Given the description of an element on the screen output the (x, y) to click on. 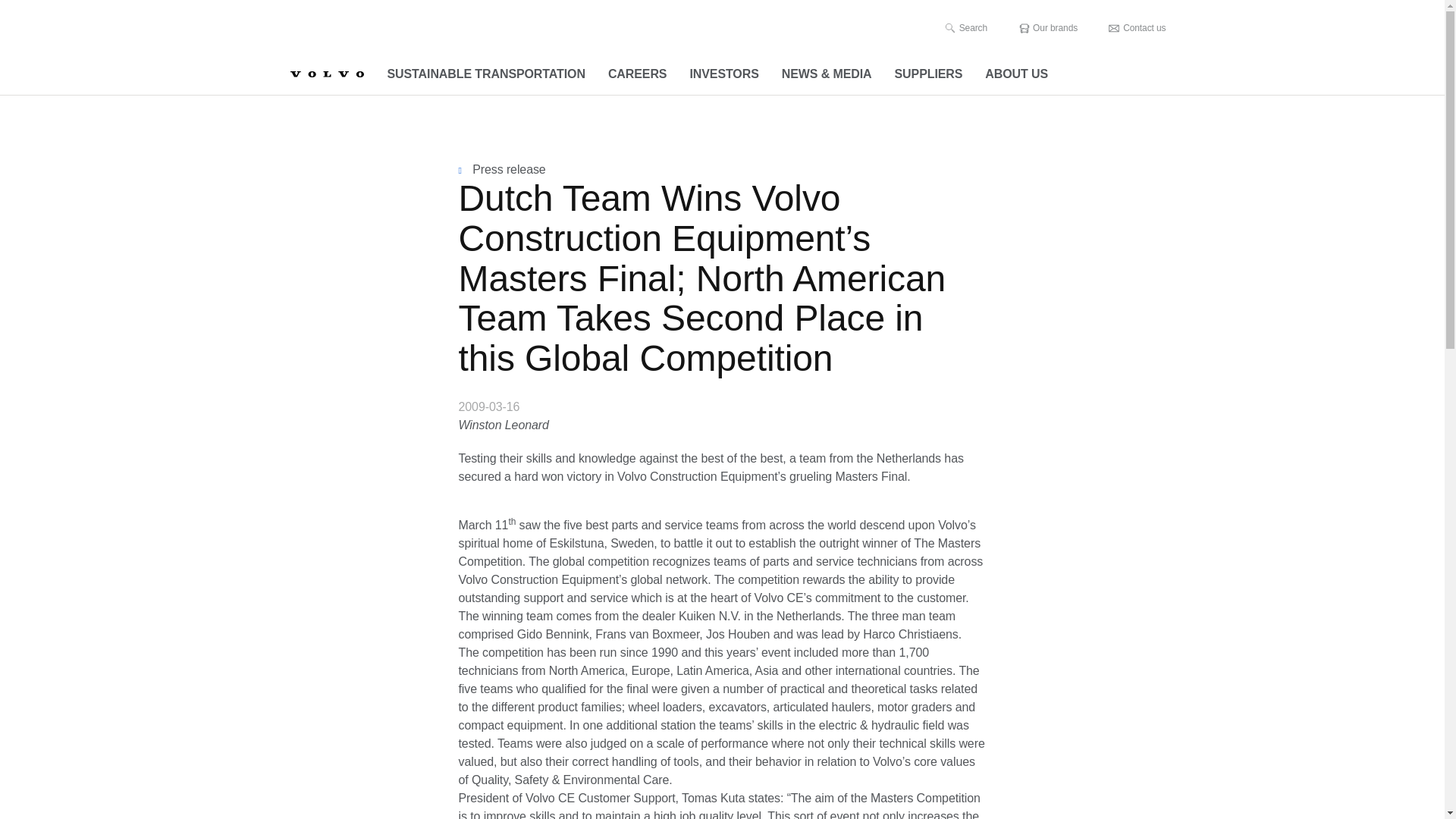
Contact us (1137, 28)
Careers (637, 74)
Our brands (1047, 28)
Investors (724, 74)
CAREERS (637, 74)
SUSTAINABLE TRANSPORTATION (485, 74)
Sustainable Transportation (485, 74)
INVESTORS (724, 74)
